Given the description of an element on the screen output the (x, y) to click on. 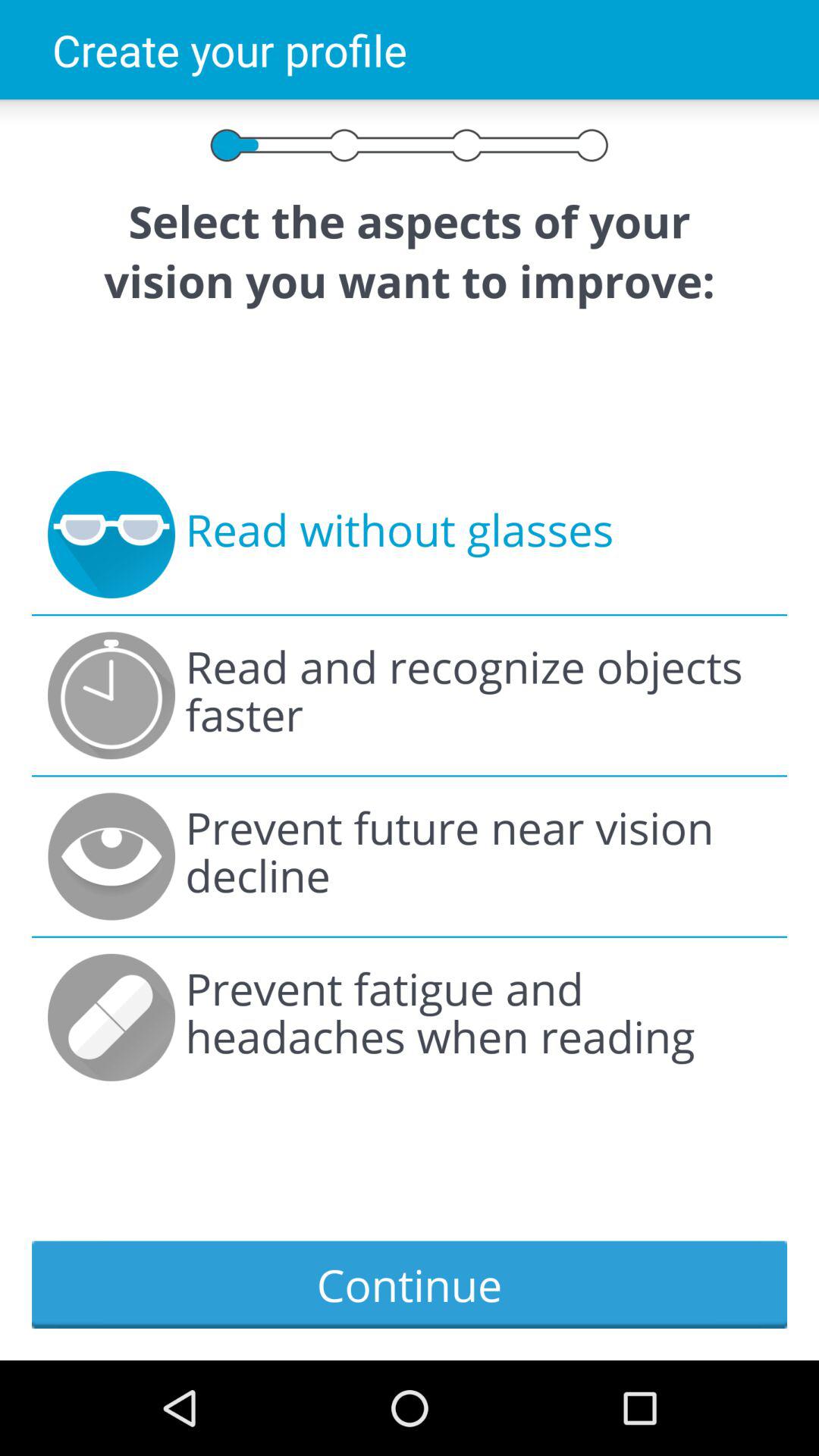
jump to continue item (409, 1284)
